Given the description of an element on the screen output the (x, y) to click on. 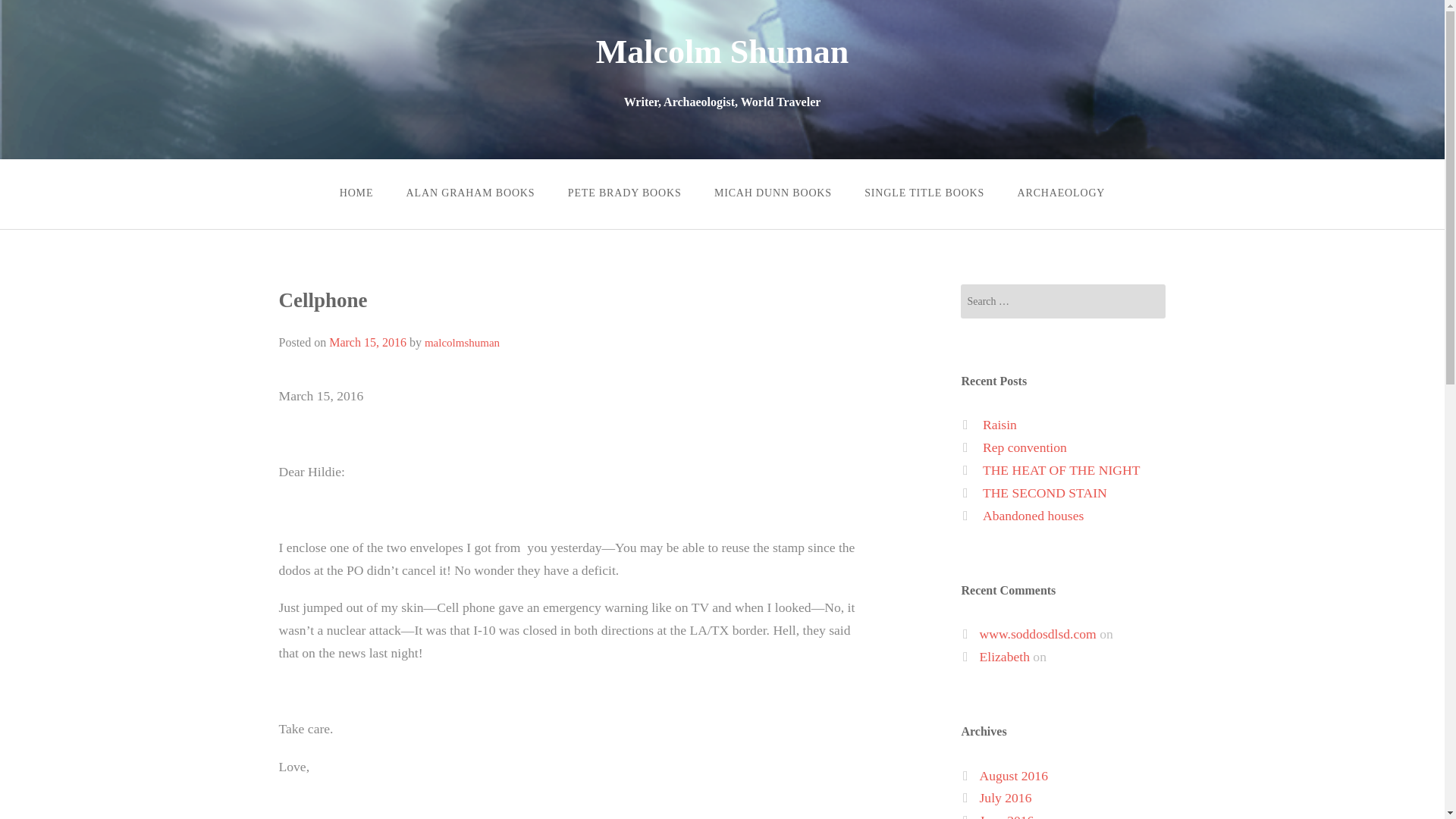
Raisin (999, 424)
Abandoned houses (1032, 515)
SINGLE TITLE BOOKS (924, 192)
ARCHAEOLOGY (1061, 192)
July 2016 (1005, 797)
August 2016 (1013, 775)
HOME (356, 192)
ALAN GRAHAM BOOKS (470, 192)
malcolmshuman (462, 342)
March 15, 2016 (367, 341)
MICAH DUNN BOOKS (772, 192)
THE SECOND STAIN (1044, 492)
THE HEAT OF THE NIGHT (1061, 469)
June 2016 (1006, 816)
Malcolm Shuman (721, 51)
